Given the description of an element on the screen output the (x, y) to click on. 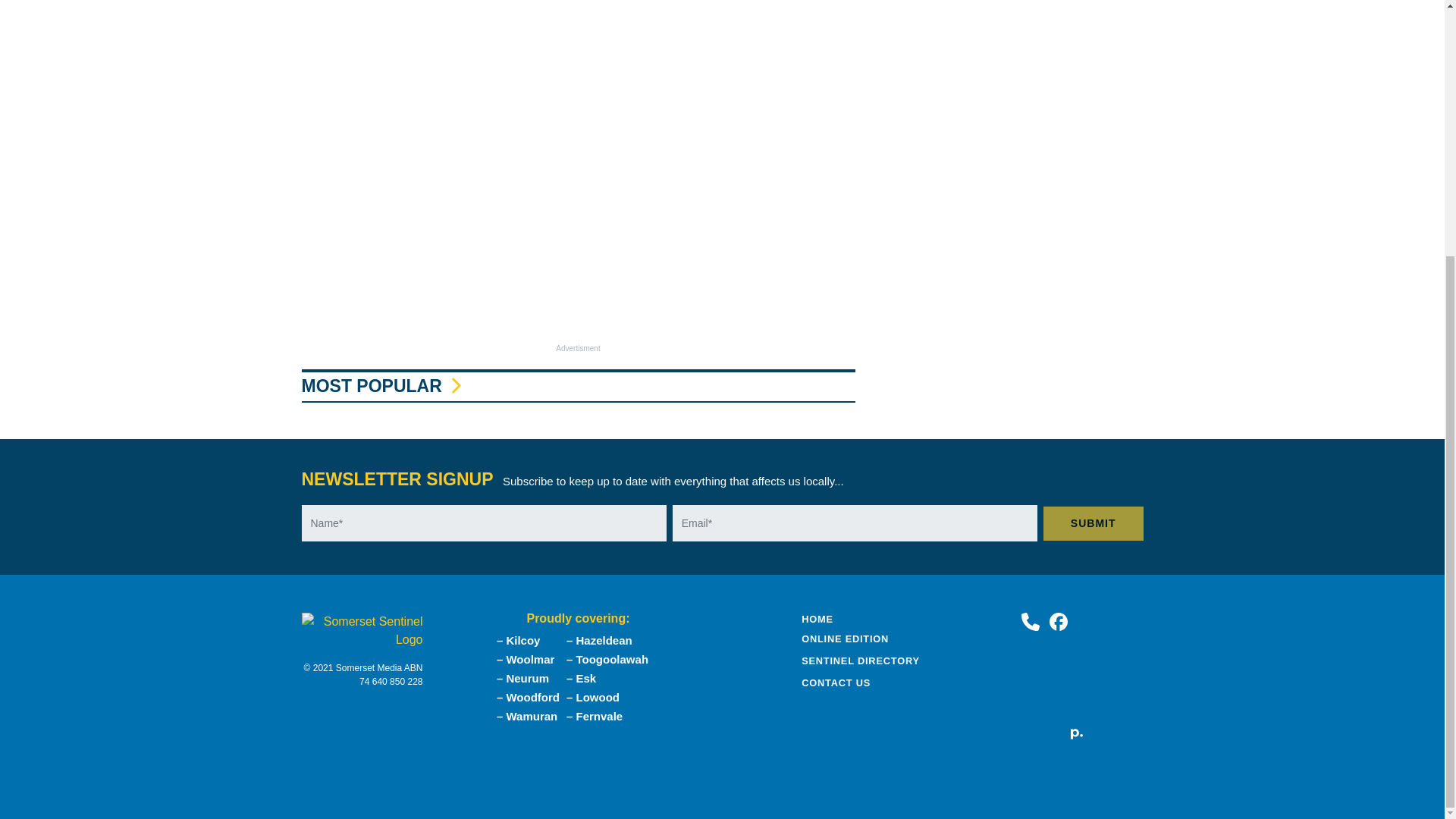
CONTACT US (836, 682)
ONLINE EDITION (845, 638)
SENTINEL DIRECTORY (861, 660)
Submit (1092, 523)
Submit (1092, 523)
HOME (817, 619)
